Given the description of an element on the screen output the (x, y) to click on. 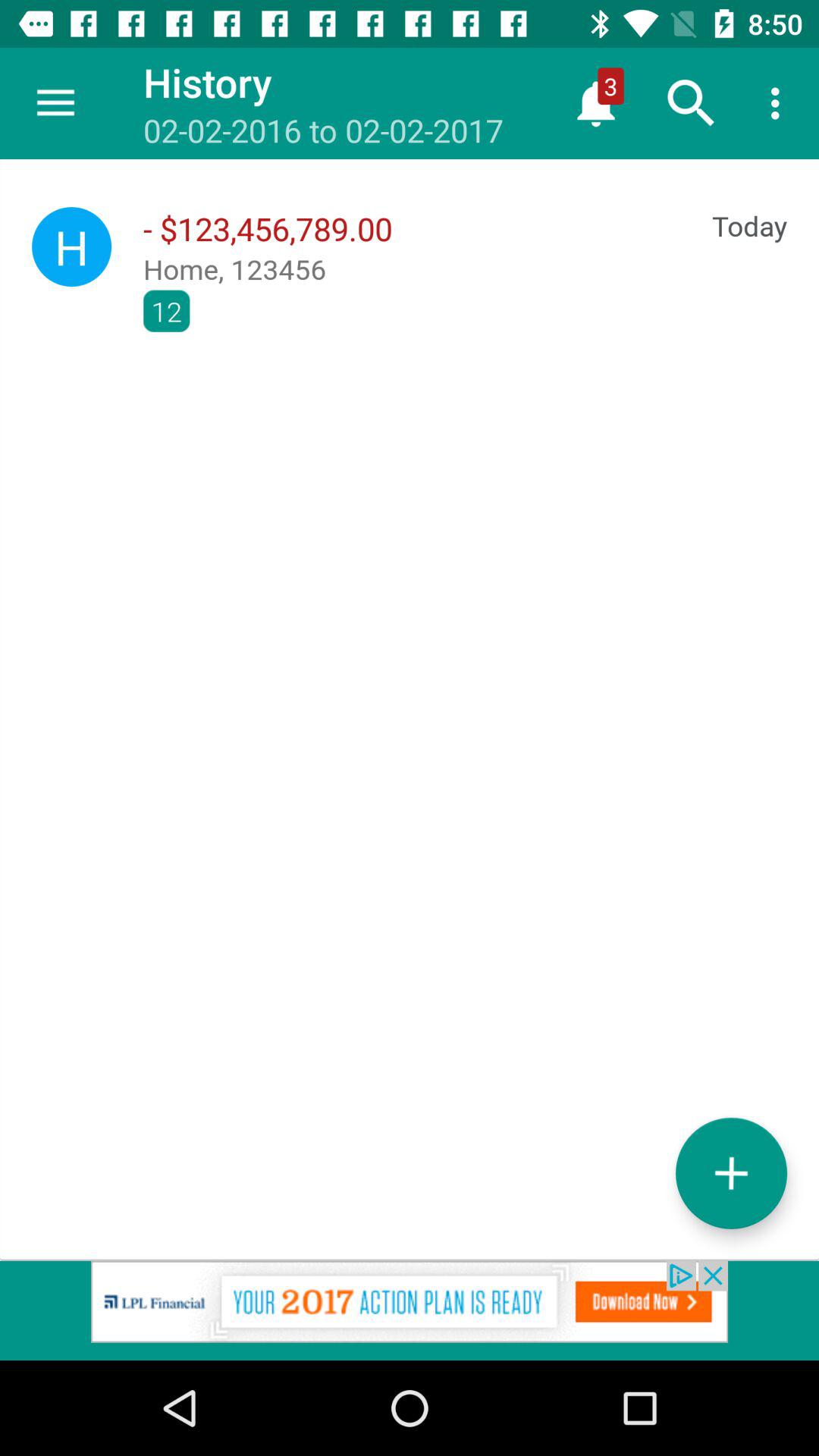
add more options (731, 1173)
